Given the description of an element on the screen output the (x, y) to click on. 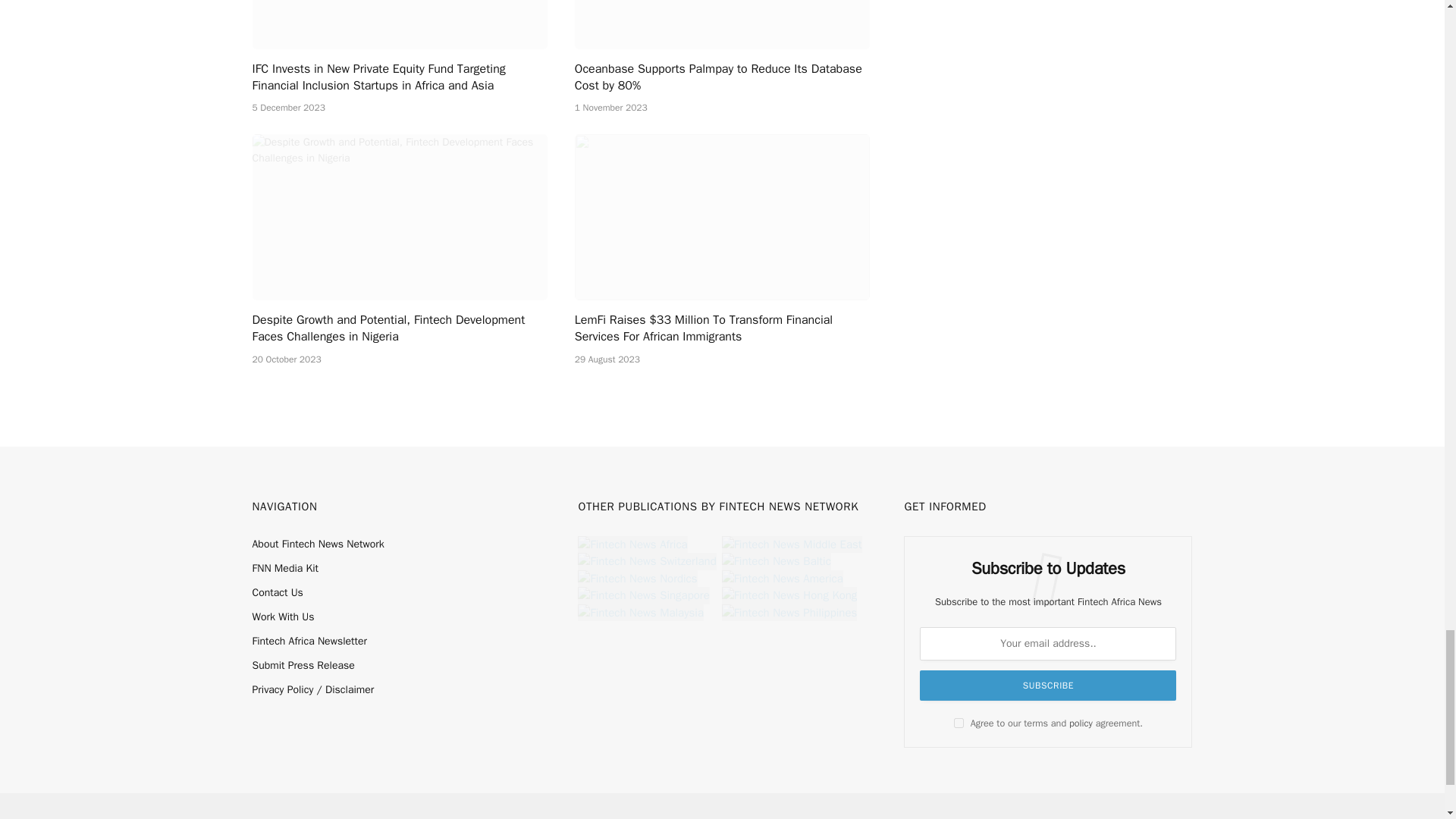
Subscribe (1048, 685)
on (958, 723)
